Given the description of an element on the screen output the (x, y) to click on. 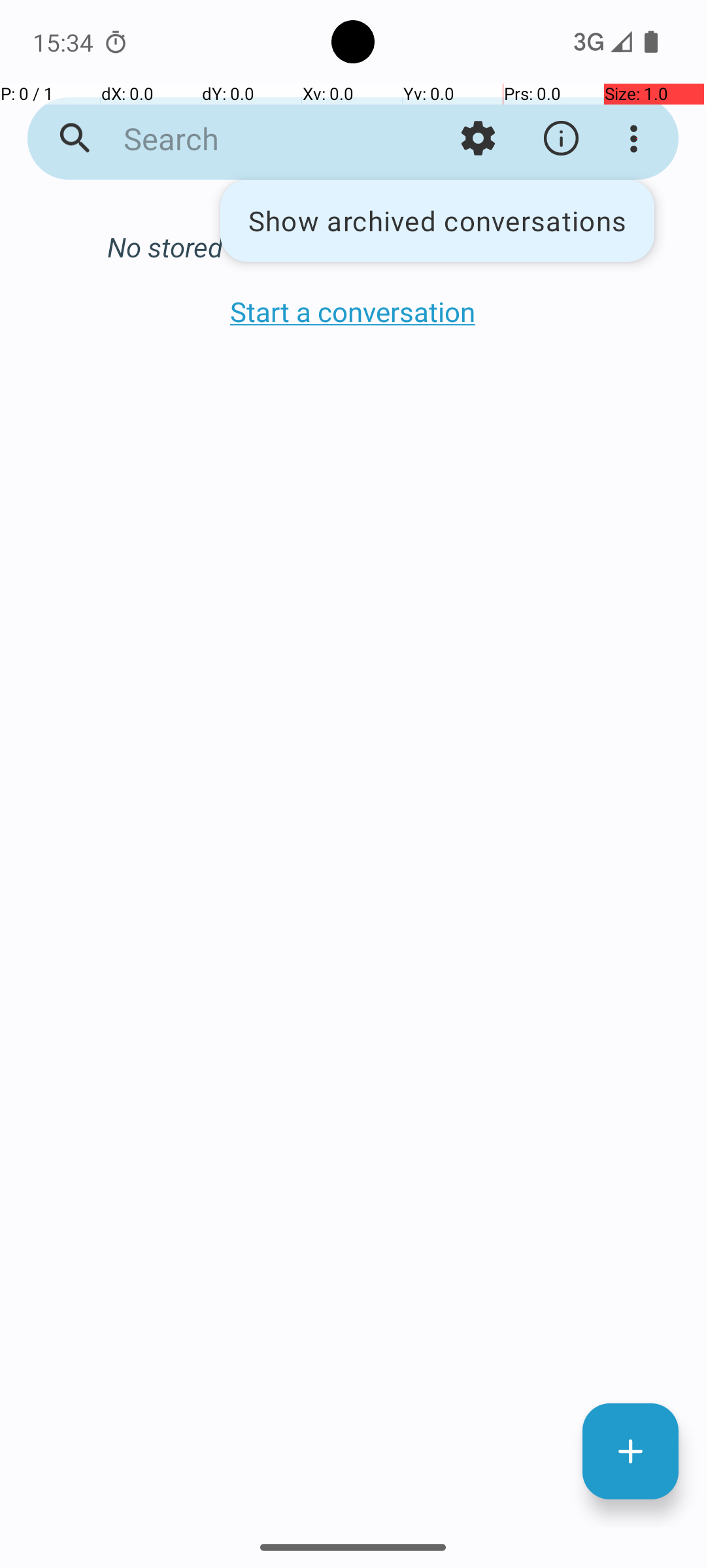
Show archived conversations Element type: android.widget.TextView (436, 220)
